Given the description of an element on the screen output the (x, y) to click on. 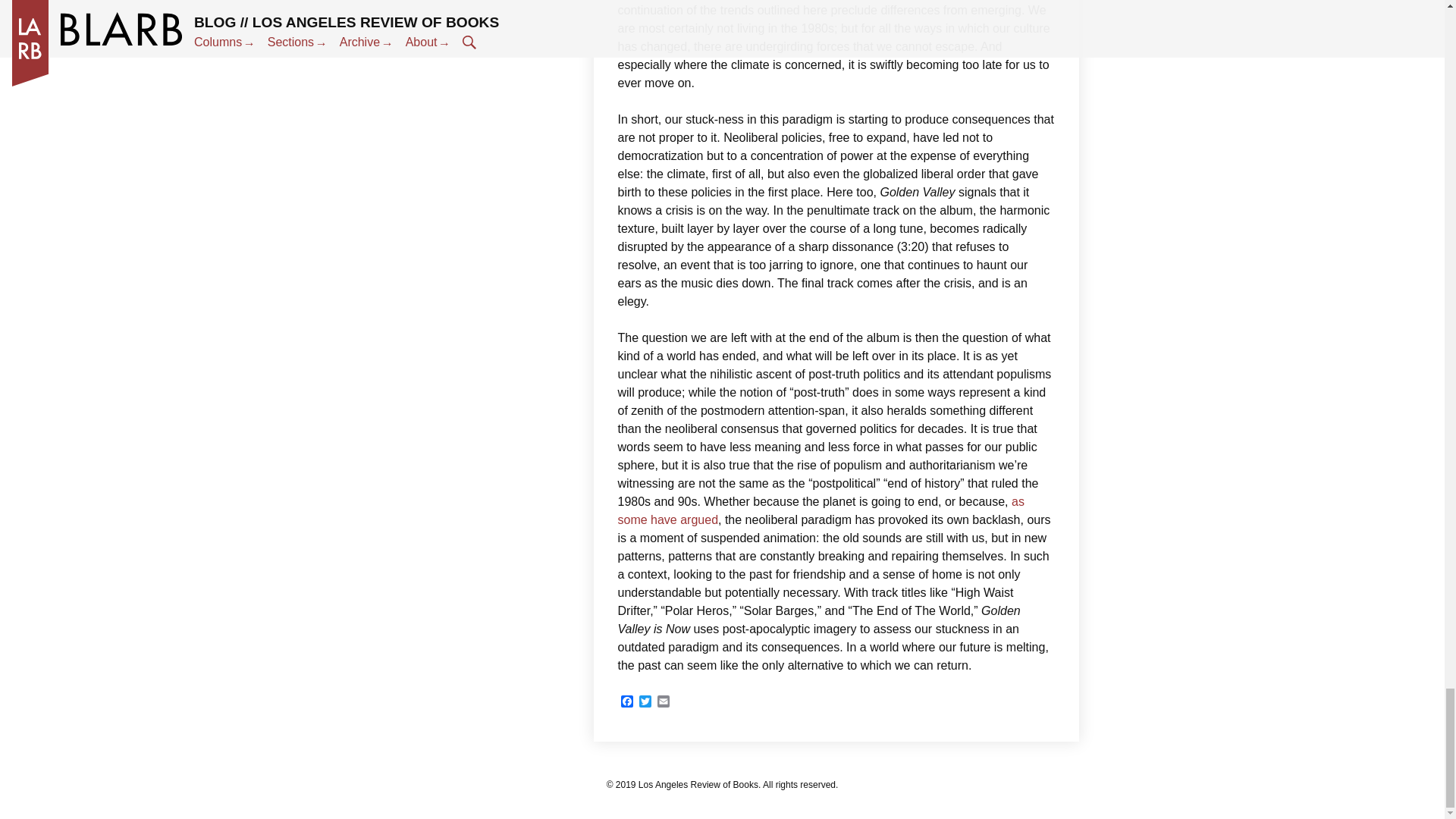
Facebook (625, 702)
Email (662, 702)
Twitter (643, 702)
